Given the description of an element on the screen output the (x, y) to click on. 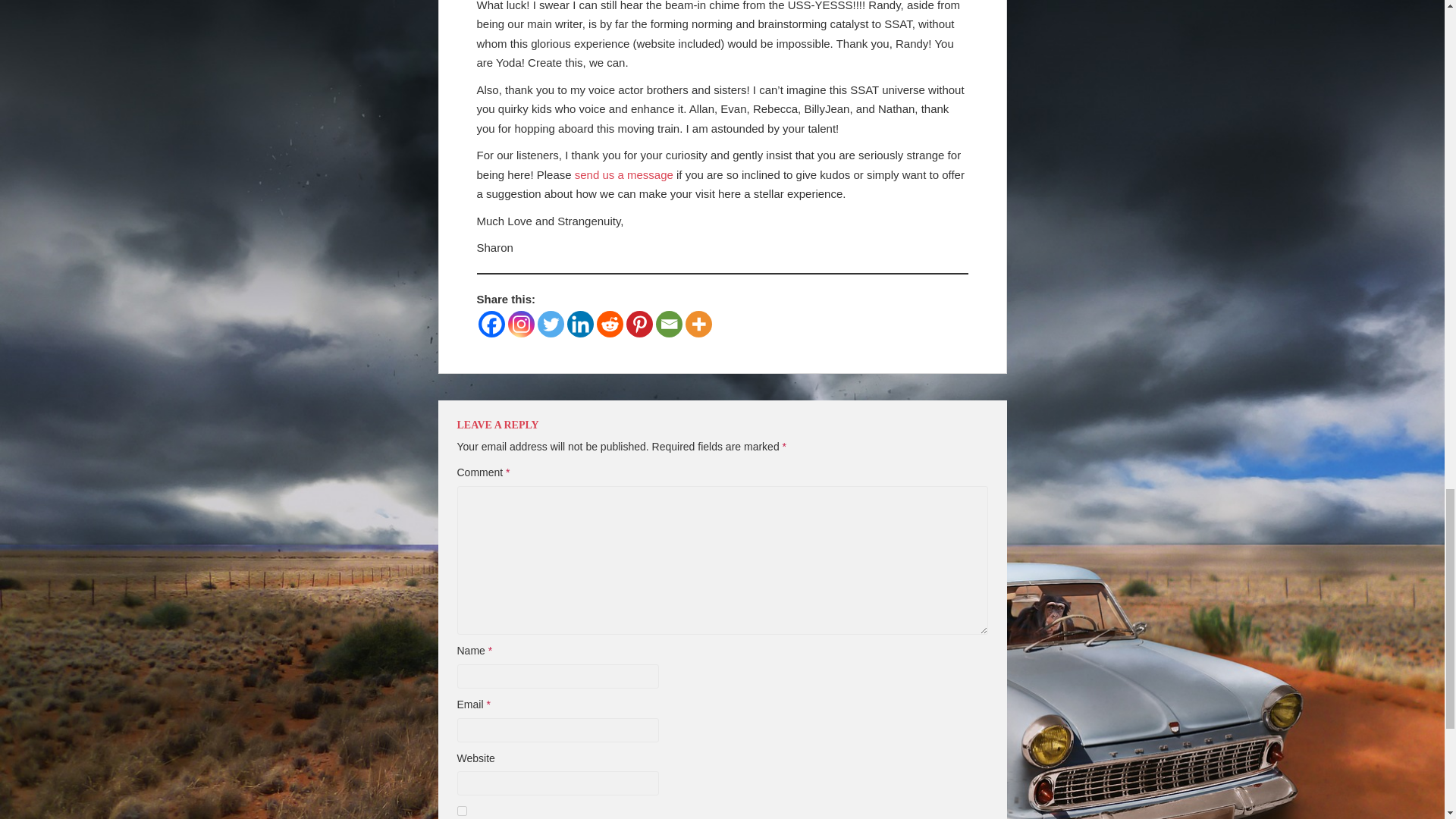
yes (461, 810)
Instagram (521, 324)
Facebook (490, 324)
Twitter (550, 324)
More (698, 324)
Reddit (609, 324)
Email (668, 324)
Linkedin (580, 324)
send us a message (623, 174)
Pinterest (639, 324)
